Given the description of an element on the screen output the (x, y) to click on. 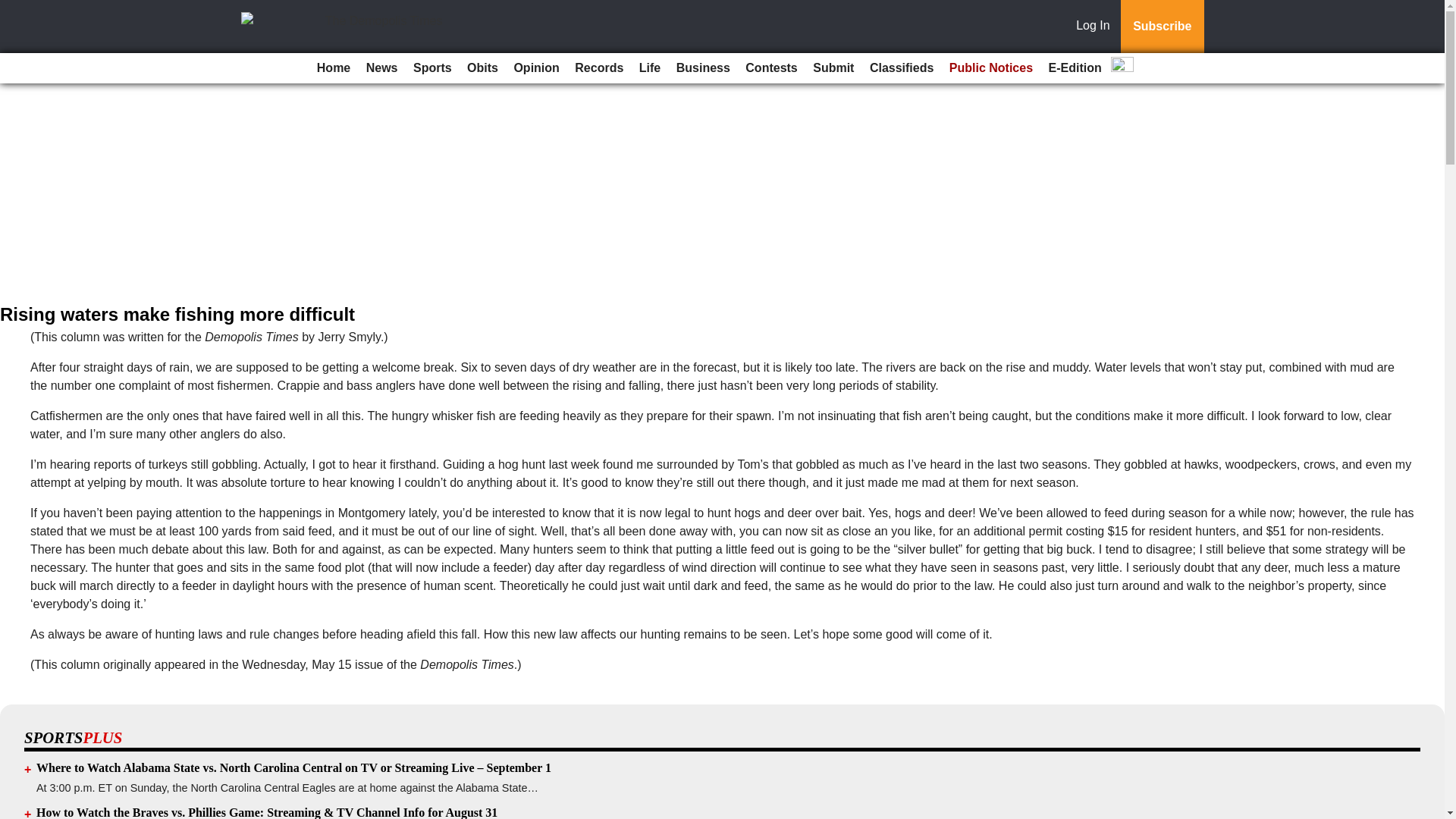
Business (702, 68)
E-Edition (1075, 68)
Log In (1095, 26)
Submit (833, 68)
Opinion (535, 68)
Home (333, 68)
Life (649, 68)
Records (598, 68)
Sports (432, 68)
Obits (482, 68)
